Given the description of an element on the screen output the (x, y) to click on. 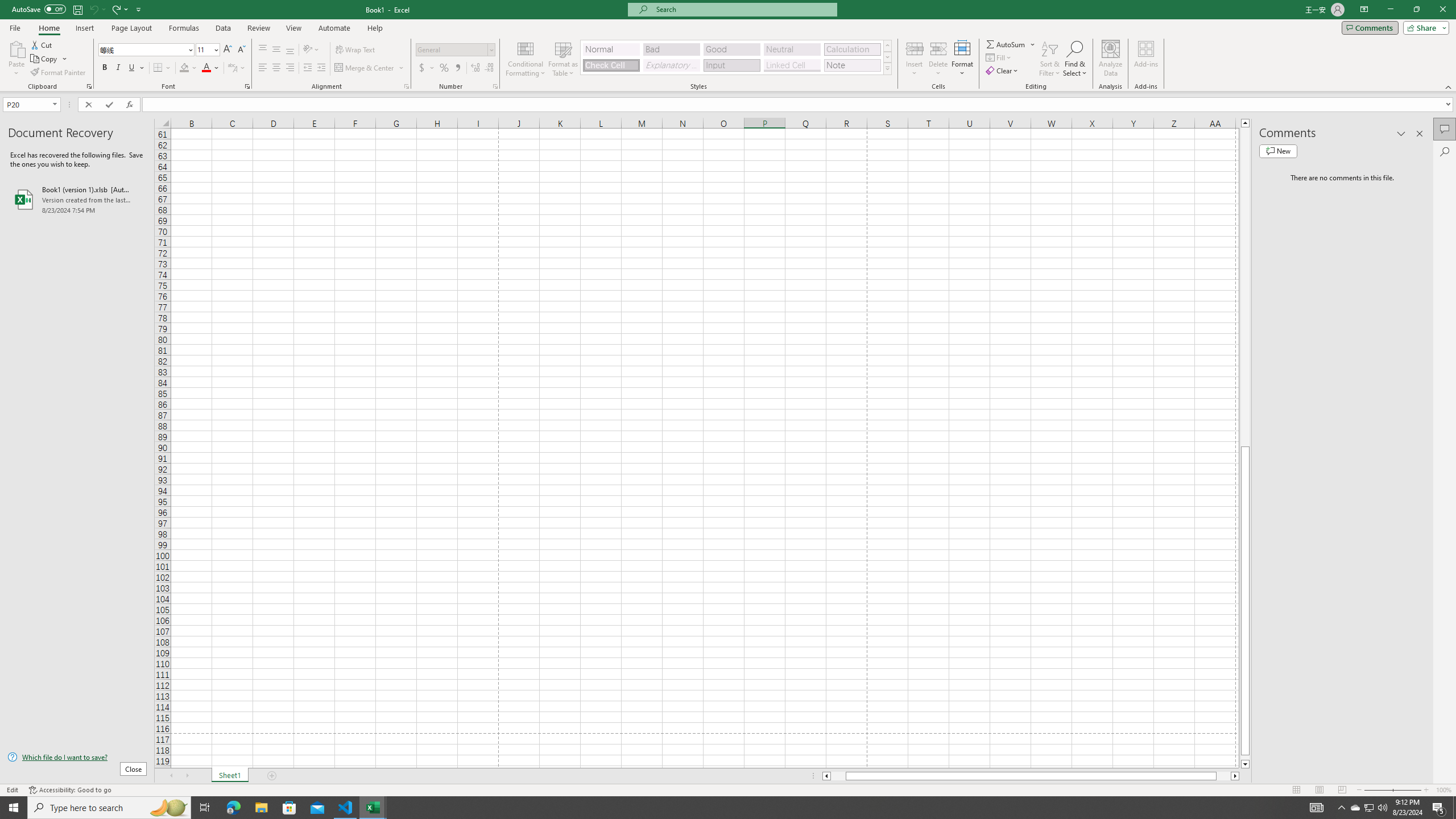
Calculation (852, 49)
Delete Cells... (938, 48)
Bold (104, 67)
Format Cell Alignment (405, 85)
Format Painter (58, 72)
Decrease Indent (307, 67)
Align Left (262, 67)
Merge & Center (369, 67)
Accounting Number Format (422, 67)
Bad (671, 49)
